Given the description of an element on the screen output the (x, y) to click on. 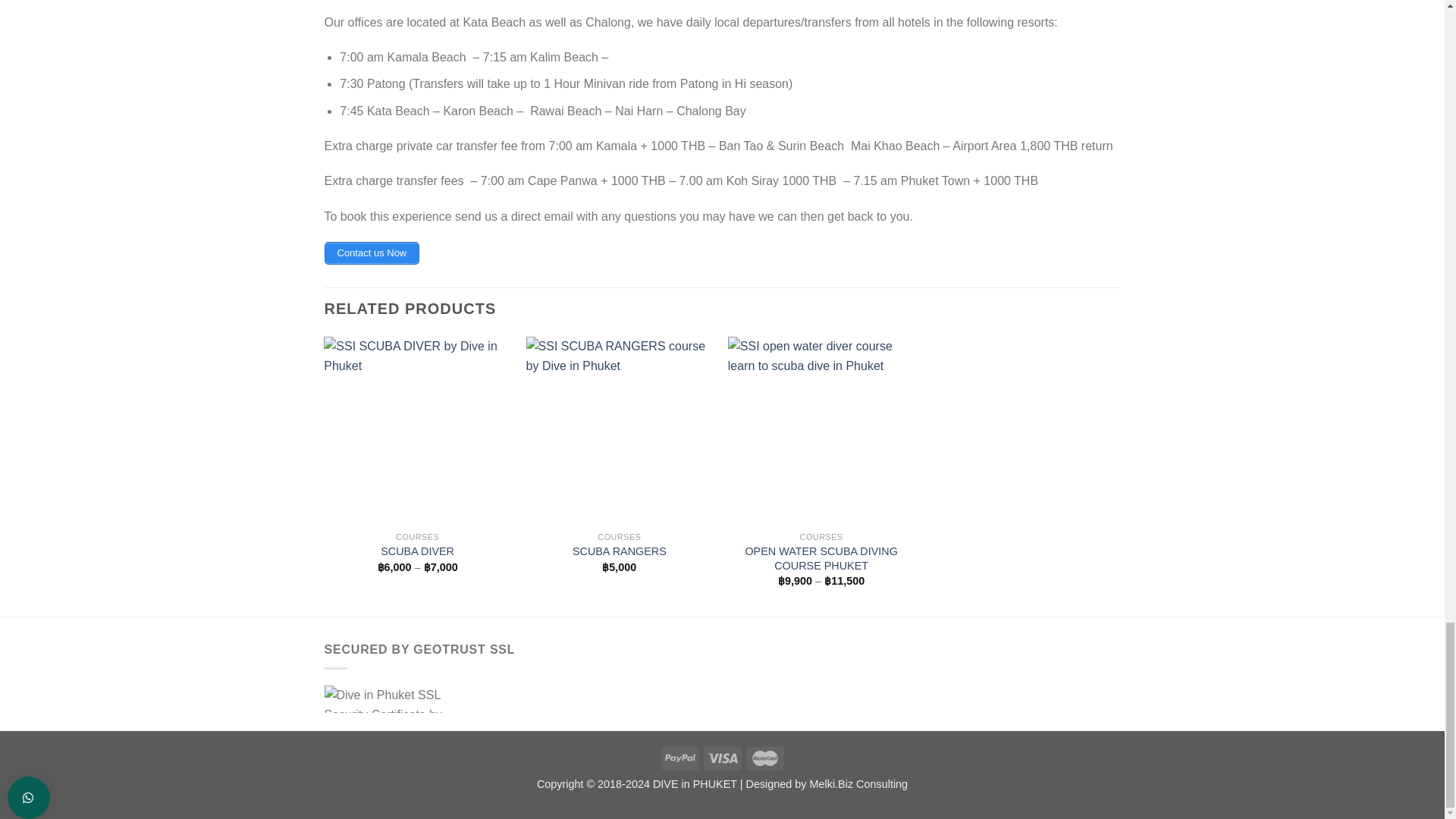
Melki.Biz Consulting (858, 784)
